Given the description of an element on the screen output the (x, y) to click on. 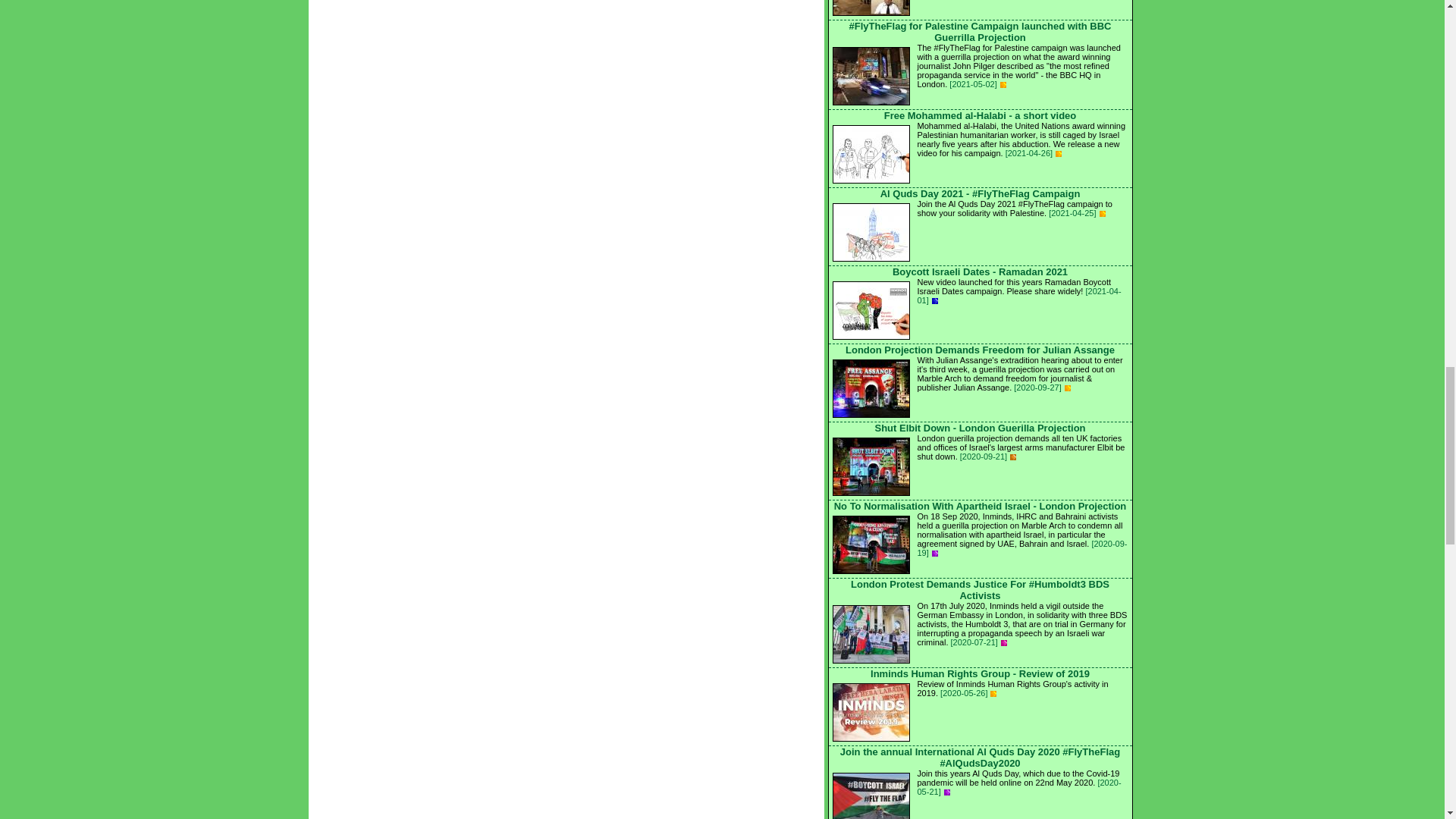
Other (1058, 153)
Other (1067, 387)
Boycott - Economic - World (934, 300)
Boycott - Other News (934, 553)
Other (1102, 213)
Other (1003, 84)
Boycott - Arms (1013, 457)
